Given the description of an element on the screen output the (x, y) to click on. 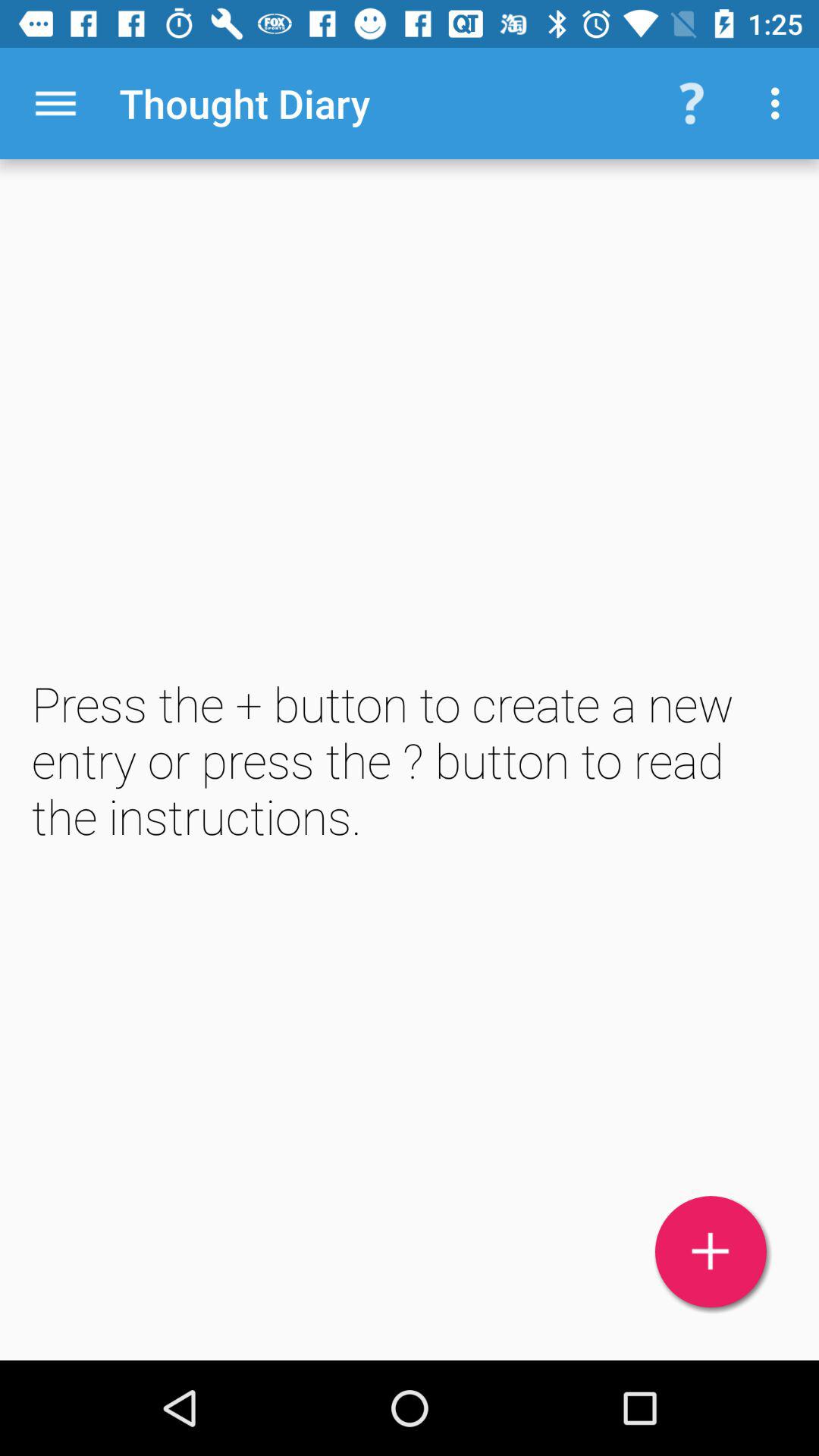
turn on the item above the press the button item (779, 103)
